Given the description of an element on the screen output the (x, y) to click on. 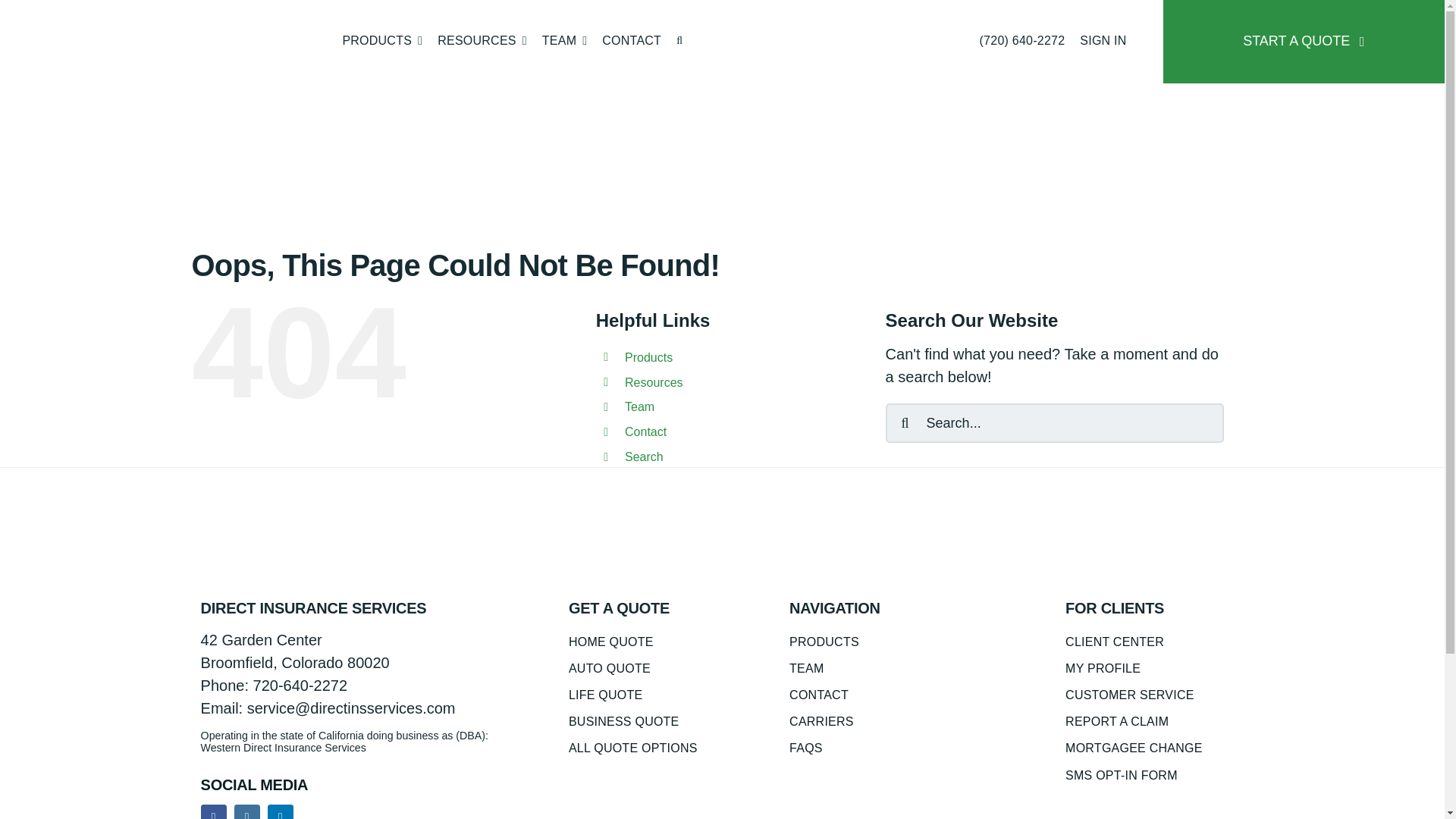
PRODUCTS (382, 41)
RESOURCES (482, 41)
Products (382, 41)
